Given the description of an element on the screen output the (x, y) to click on. 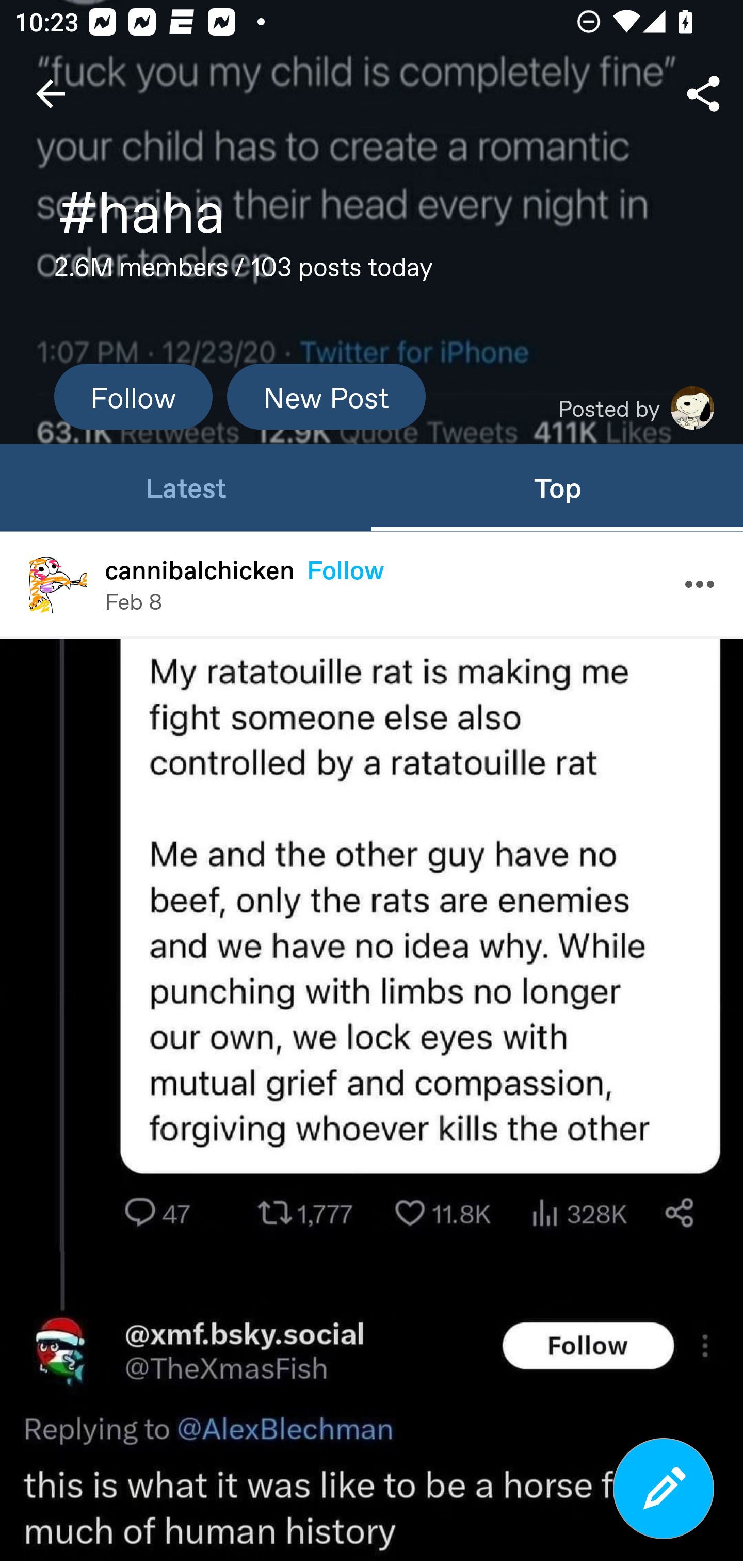
Navigate up (50, 93)
2.6M members /  103 posts today (243, 272)
Follow (133, 396)
New Post (326, 396)
Latest (185, 486)
Follow (345, 569)
Compose a new post (663, 1488)
